Given the description of an element on the screen output the (x, y) to click on. 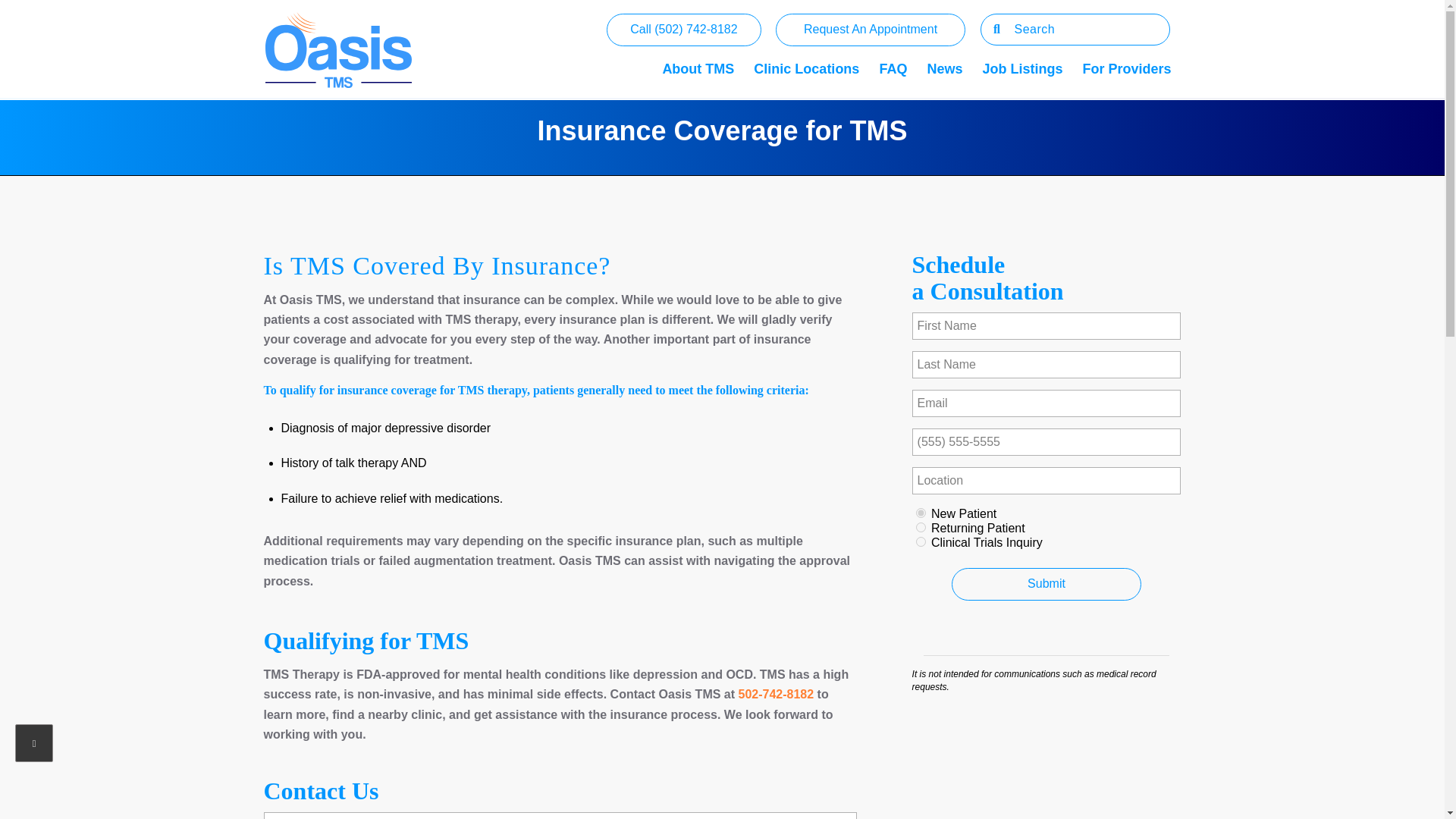
Submit (1046, 584)
Clinic Locations (806, 49)
New Patient (920, 512)
Clinical Trials Inquiry (920, 542)
Job Listings (1021, 49)
About TMS (698, 49)
Returning Patient (920, 527)
